Given the description of an element on the screen output the (x, y) to click on. 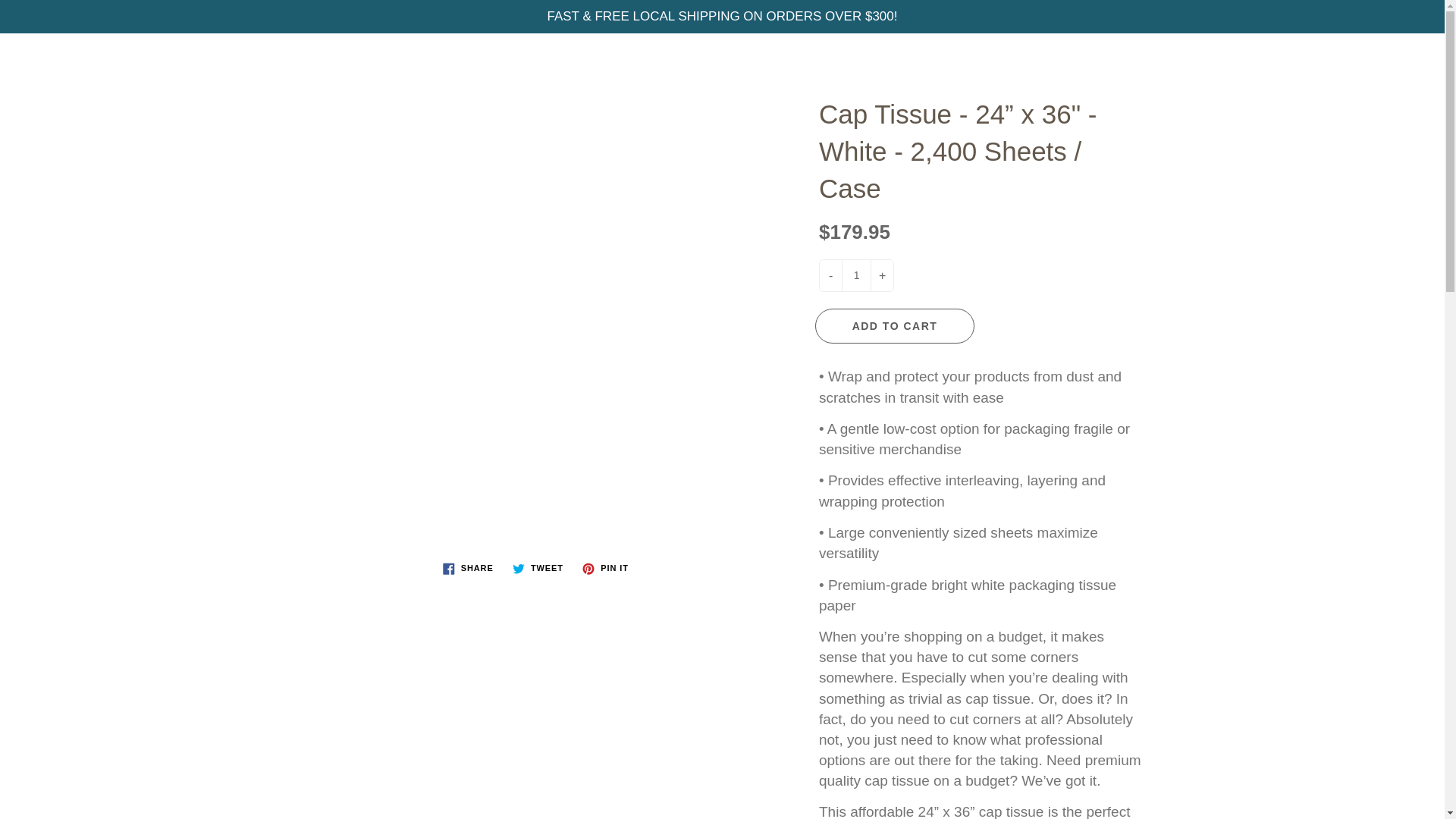
Tweet on Twitter (537, 568)
My account (1379, 59)
Share on Facebook (467, 568)
You have 0 items in your cart (1417, 59)
OUR PRODUCTS (501, 128)
Pin on Pinterest (604, 568)
Search (28, 59)
1 (855, 275)
